Given the description of an element on the screen output the (x, y) to click on. 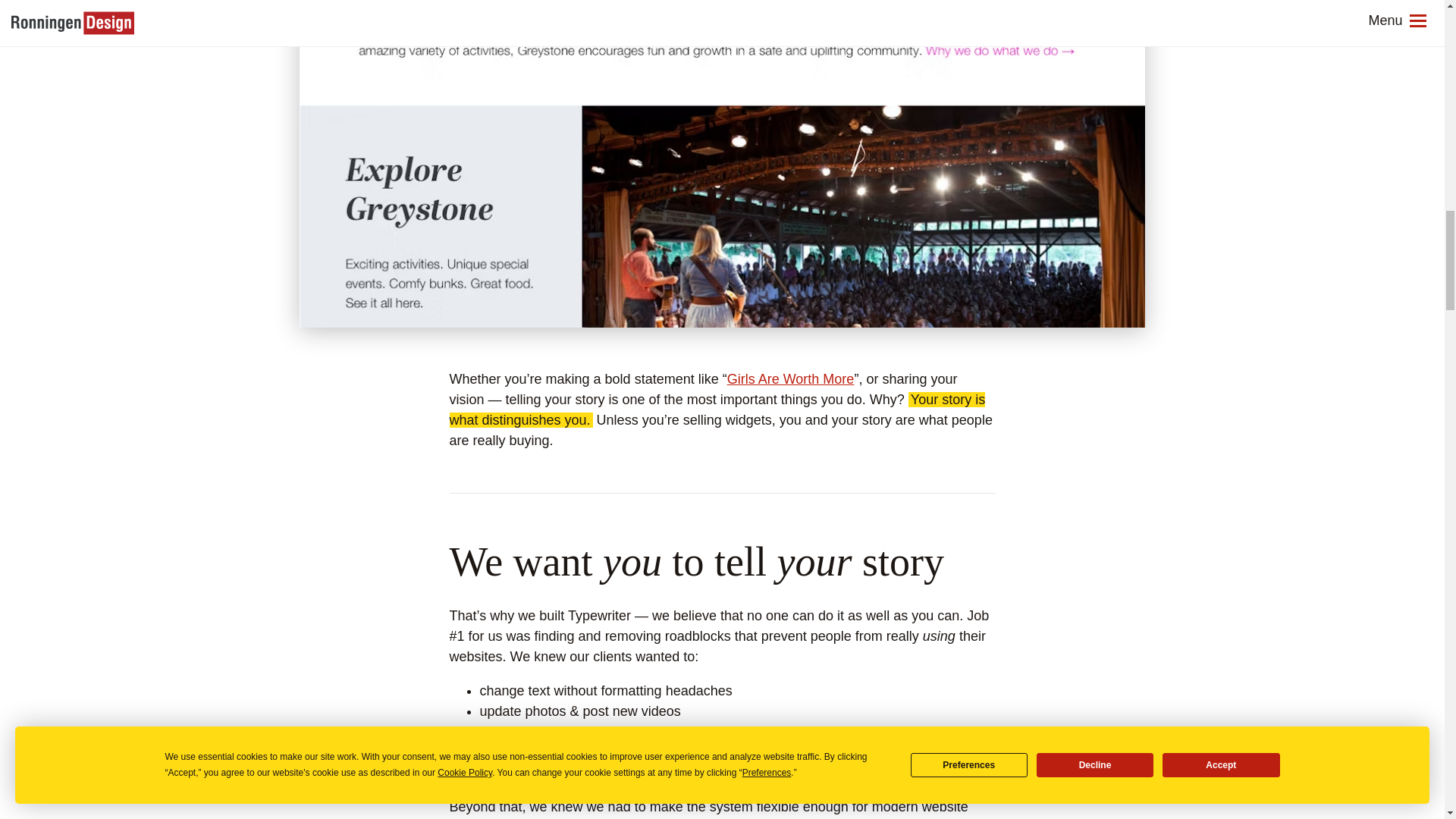
Girls Are Worth More (790, 378)
